Given the description of an element on the screen output the (x, y) to click on. 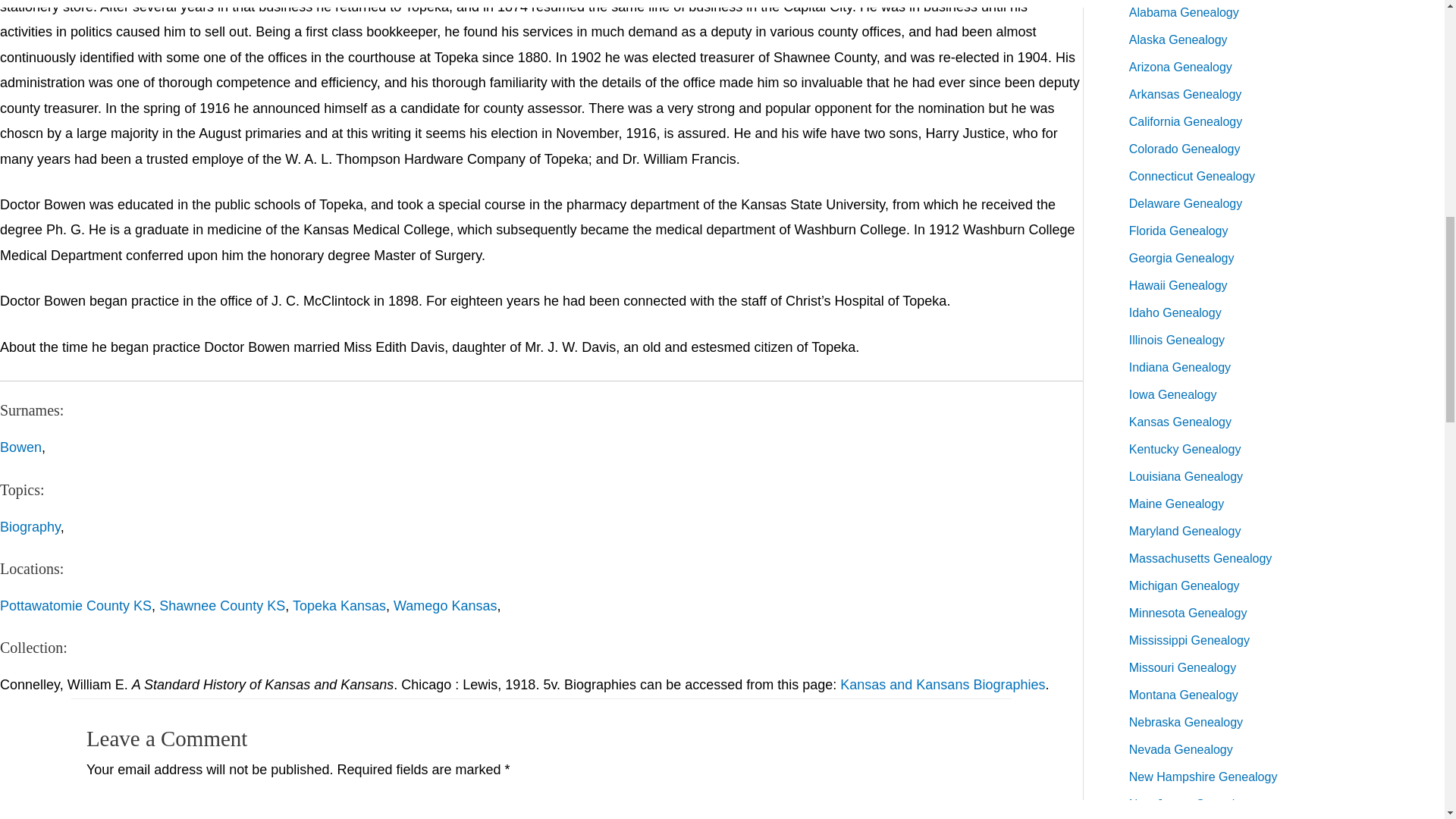
Pottawatomie County KS (75, 605)
Florida Genealogy (1178, 230)
Georgia Genealogy (1181, 257)
Wamego Kansas (444, 605)
Connecticut Genealogy (1192, 175)
Alaska Genealogy (1178, 39)
Topeka Kansas (338, 605)
California Genealogy (1185, 121)
Arizona Genealogy (1180, 66)
Kansas and Kansans Biographies (942, 684)
Alabama Genealogy (1184, 11)
Alabama Genealogy (1184, 11)
Arkansas Genealogy (1185, 93)
Alaska Genealogy (1178, 39)
Arizona Genealogy (1180, 66)
